Given the description of an element on the screen output the (x, y) to click on. 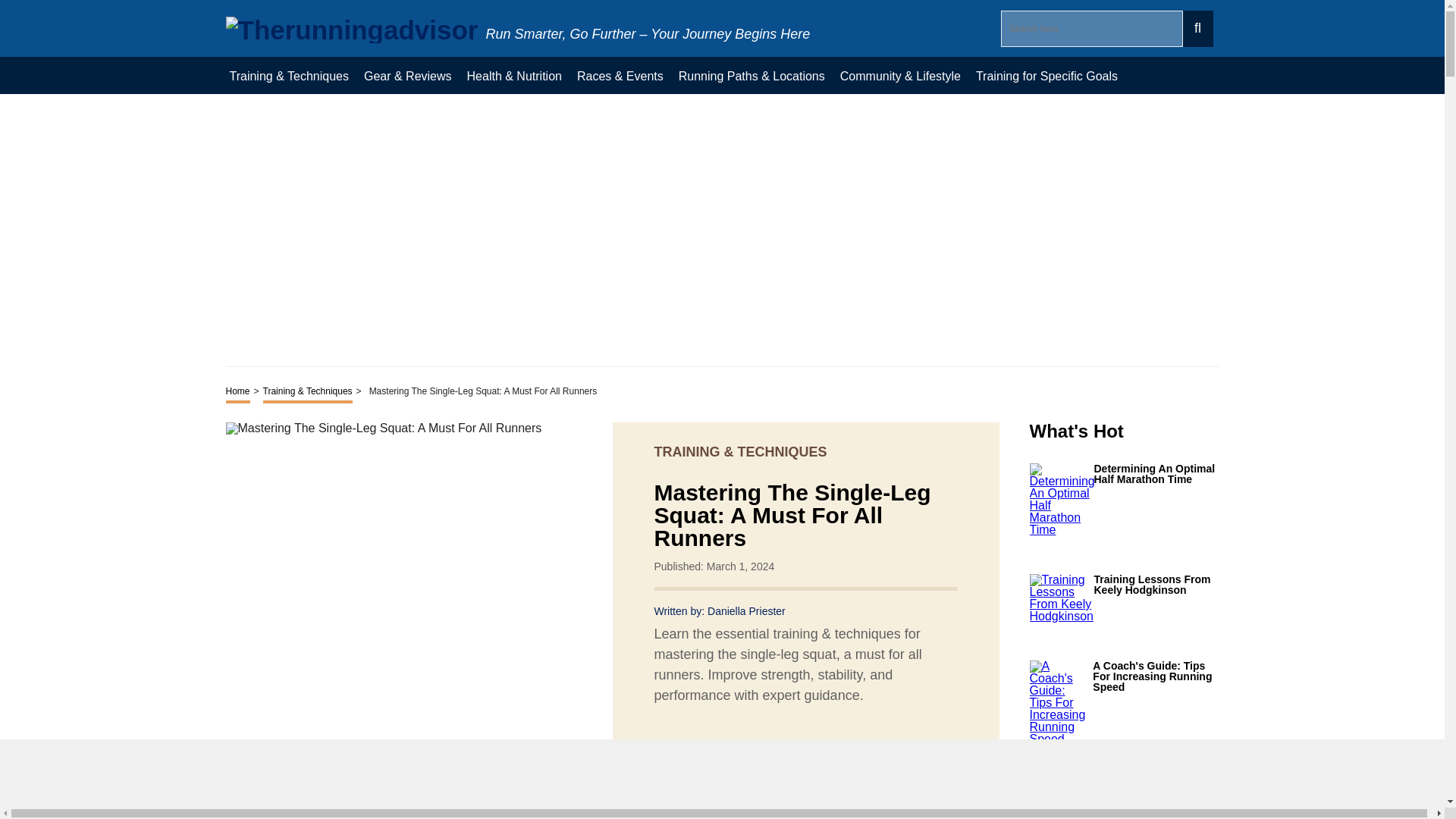
Training for Specific Goals (1046, 74)
